Given the description of an element on the screen output the (x, y) to click on. 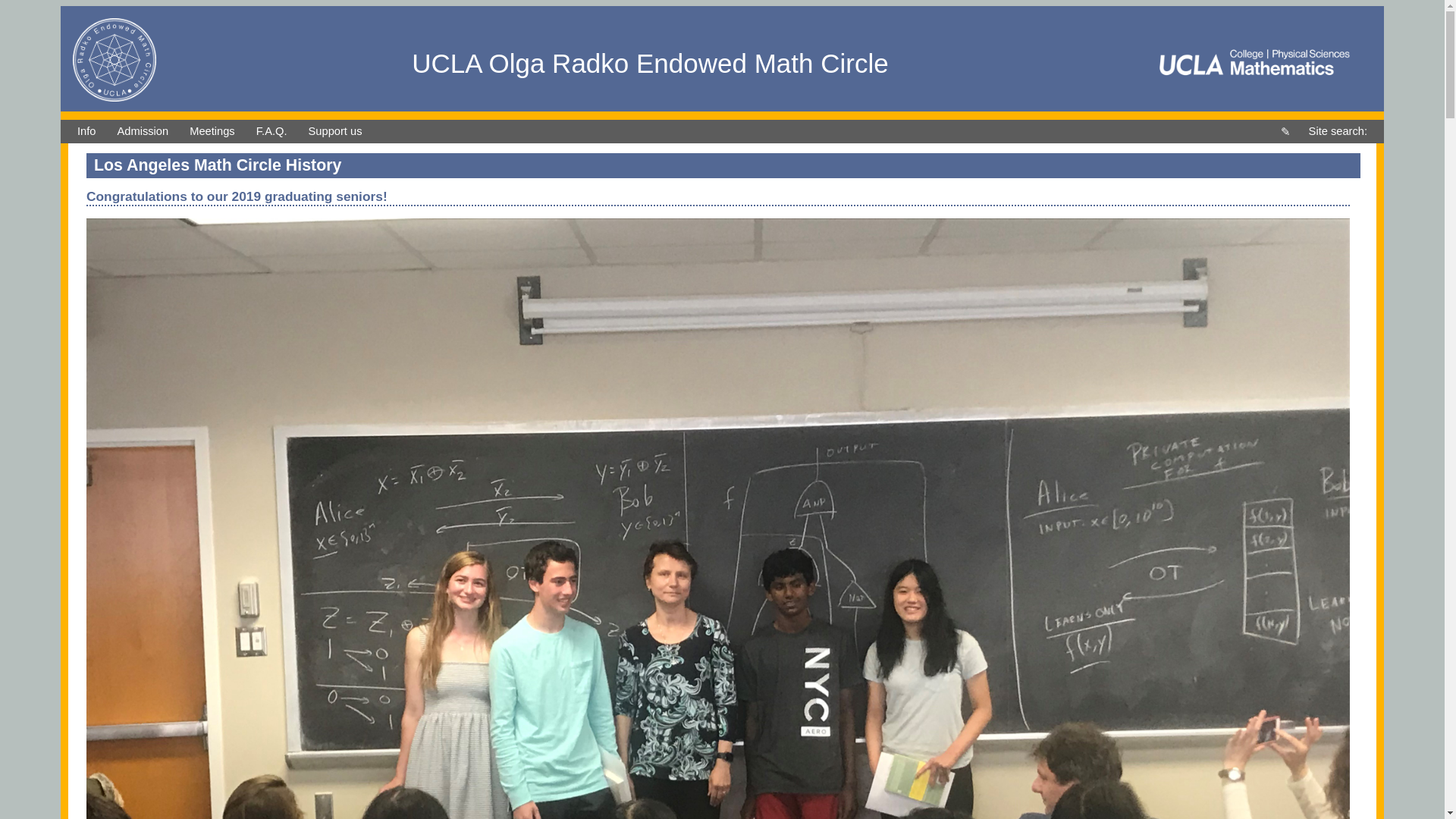
Support us (335, 131)
F.A.Q. (271, 131)
Meetings (211, 131)
Info (86, 131)
Admission (142, 131)
UCLA Olga Radko Endowed Math Circle (650, 68)
